Given the description of an element on the screen output the (x, y) to click on. 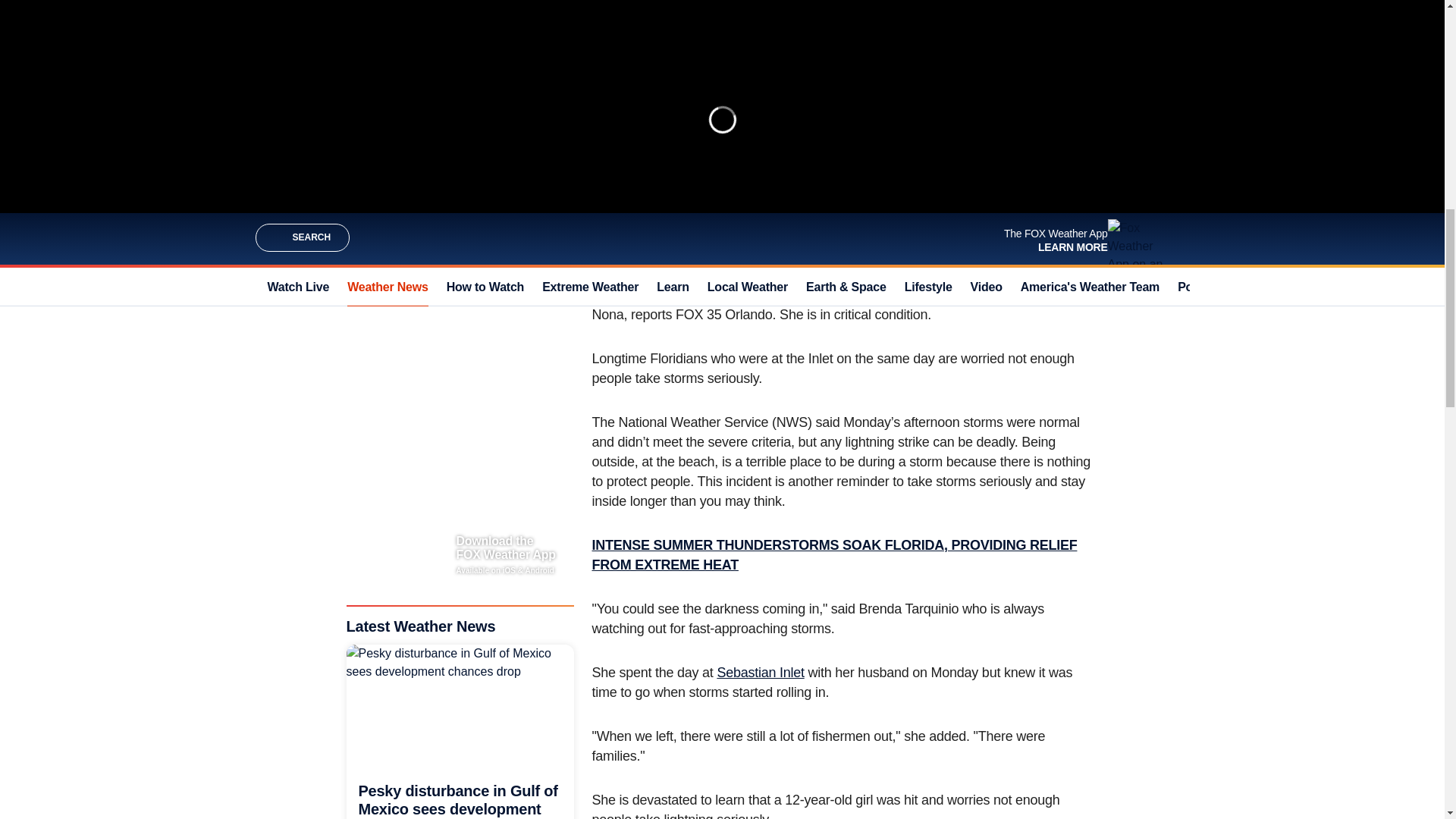
Sebastian Inlet (759, 672)
Mother, daughter struck by lightning in Florida (709, 47)
Florida (919, 167)
lightning (717, 167)
